Given the description of an element on the screen output the (x, y) to click on. 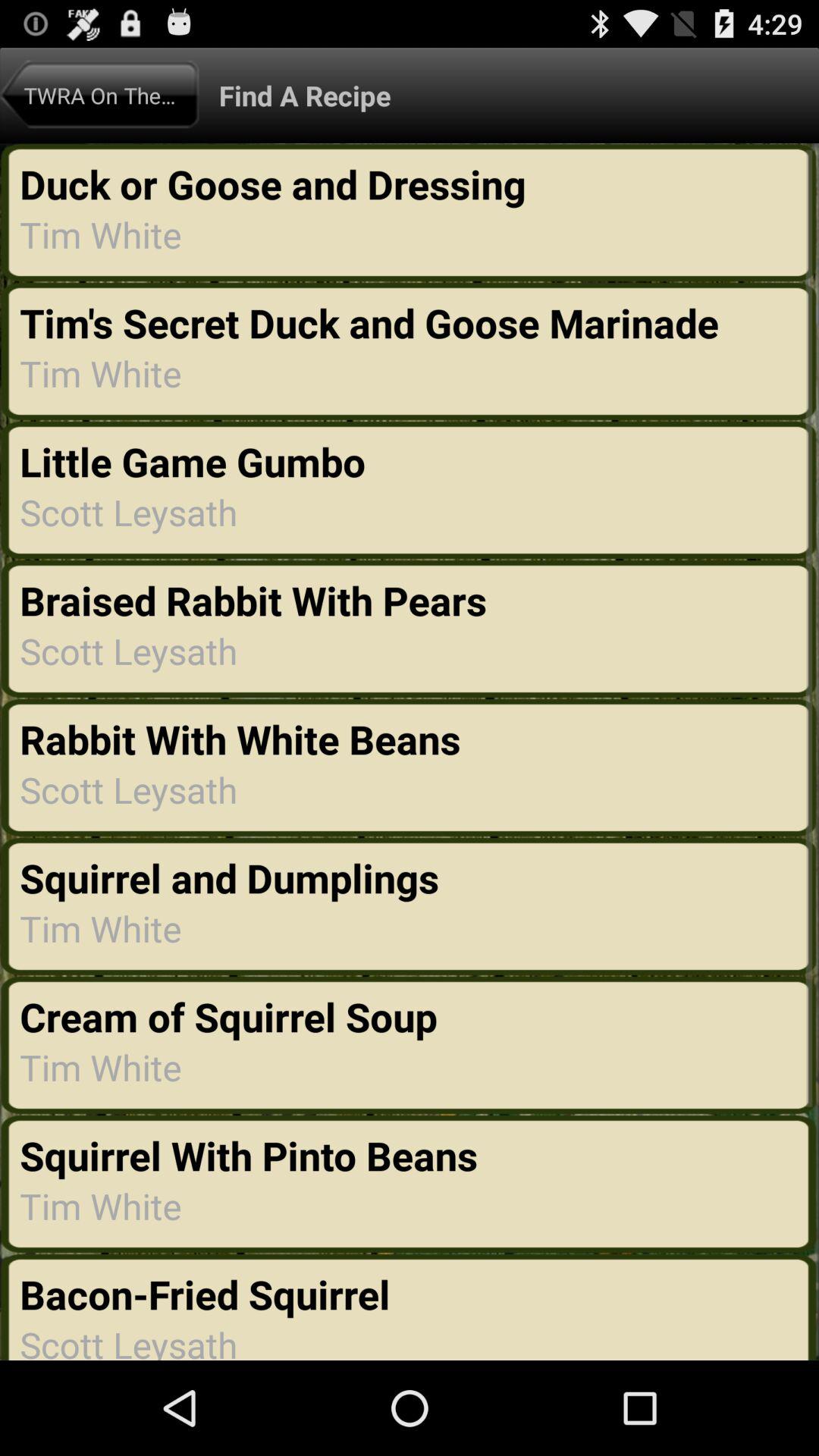
tap icon next to find a recipe (99, 95)
